Given the description of an element on the screen output the (x, y) to click on. 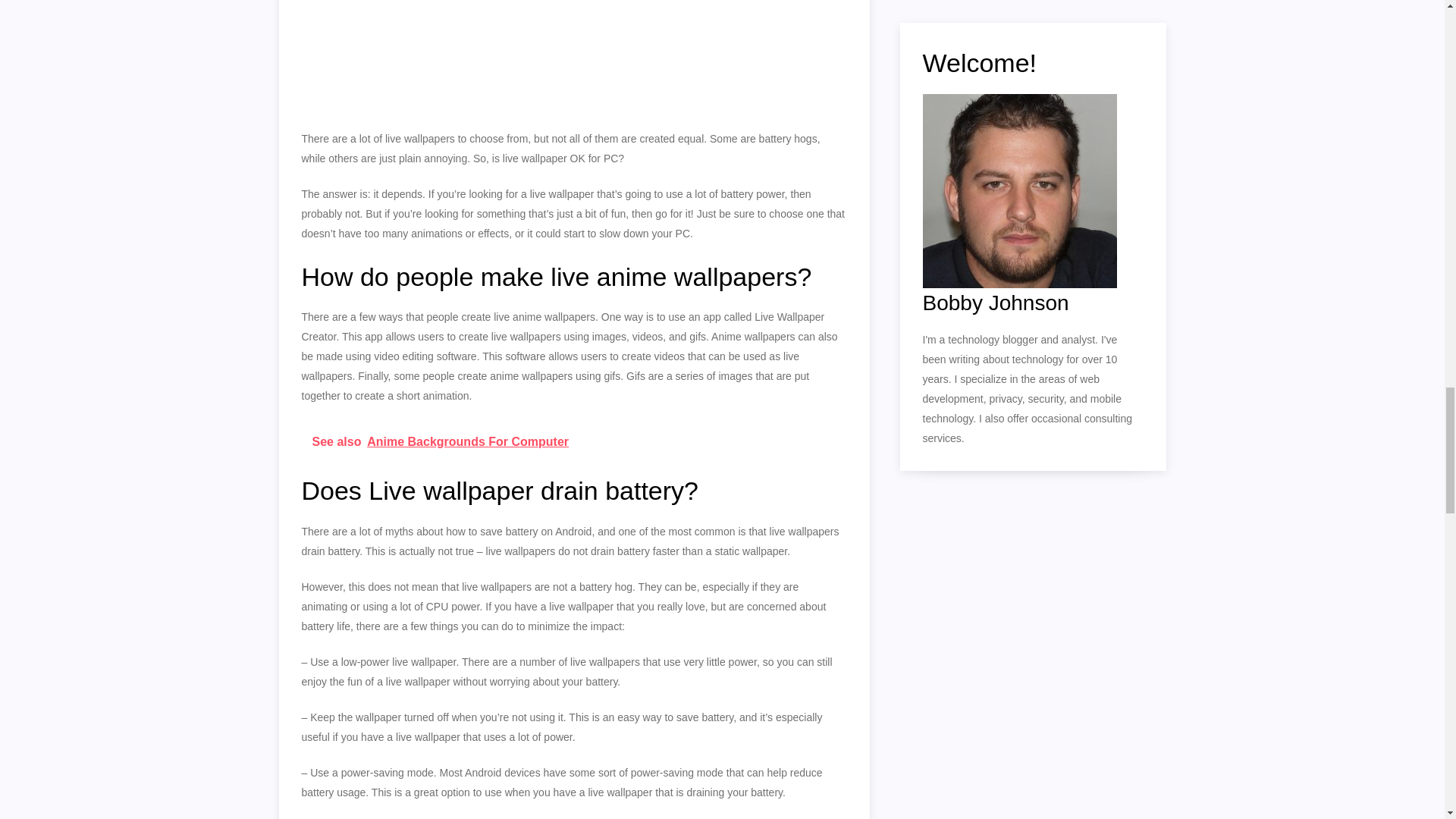
See also  Anime Backgrounds For Computer (574, 441)
